Given the description of an element on the screen output the (x, y) to click on. 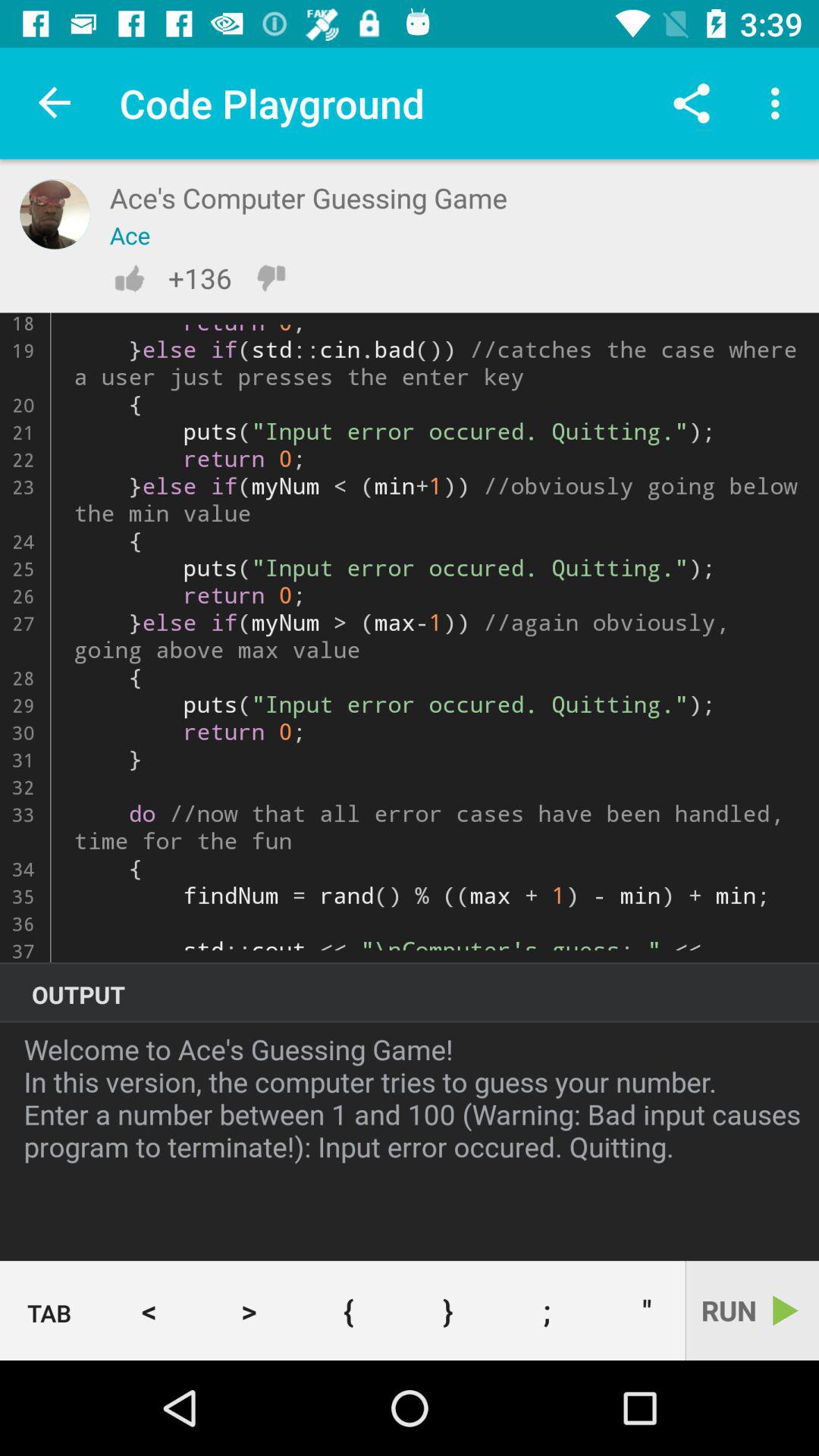
like button (129, 277)
